Given the description of an element on the screen output the (x, y) to click on. 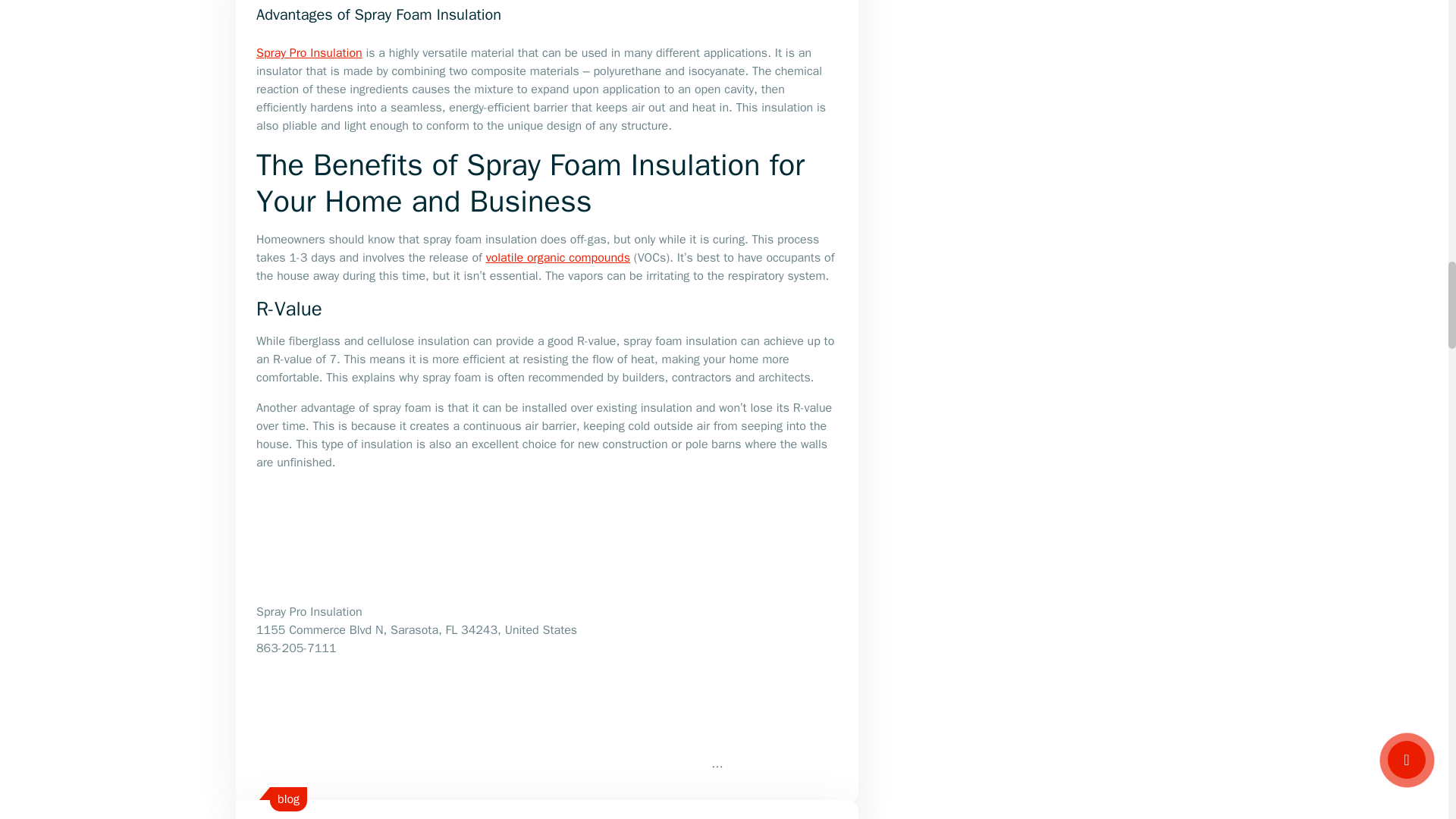
volatile organic compounds (558, 257)
Spray Pro Insulation (309, 52)
Advantages of Spray Foam Insulation (378, 14)
